Given the description of an element on the screen output the (x, y) to click on. 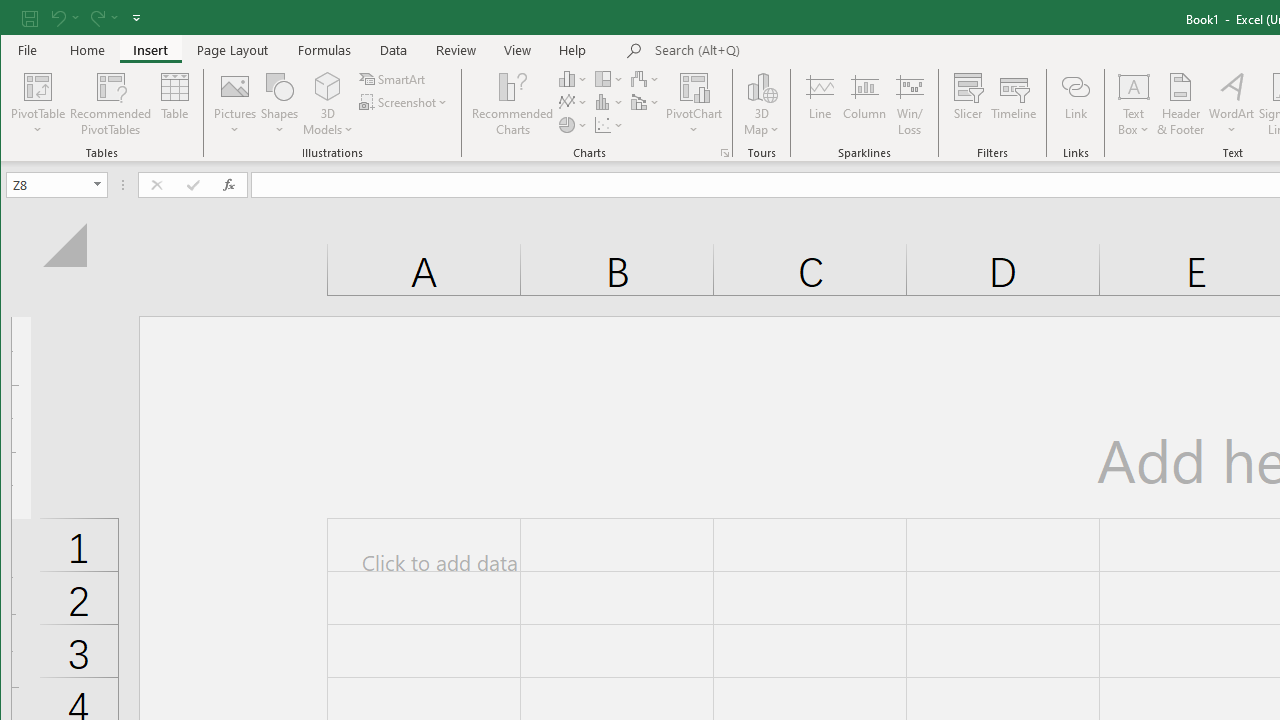
Win/Loss (909, 104)
Insert Column or Bar Chart (573, 78)
Line (819, 104)
SmartArt... (393, 78)
Draw Horizontal Text Box (1133, 86)
PivotTable (37, 86)
Screenshot (404, 101)
Header & Footer... (1180, 104)
